Given the description of an element on the screen output the (x, y) to click on. 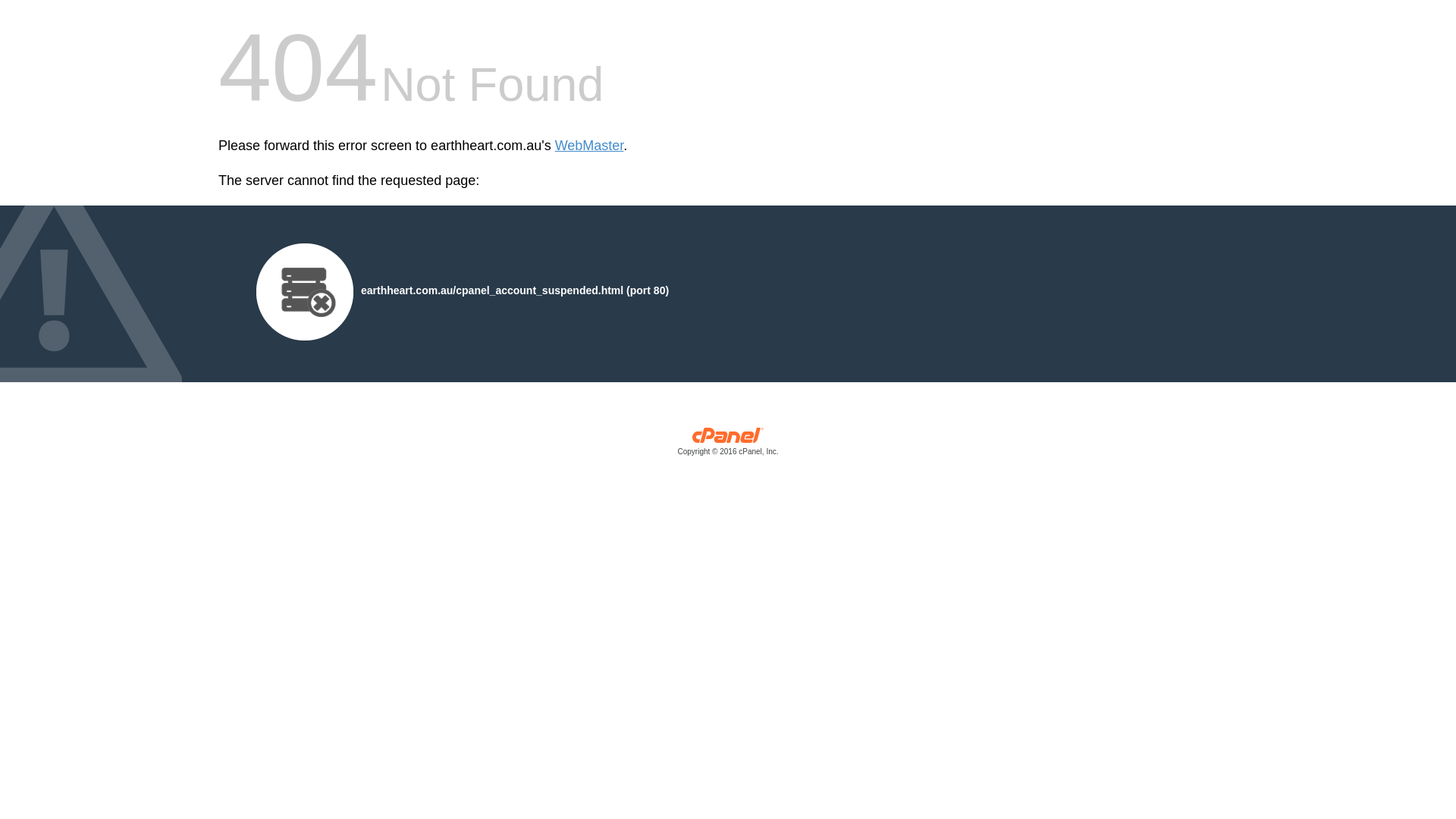
WebMaster Element type: text (589, 145)
